Given the description of an element on the screen output the (x, y) to click on. 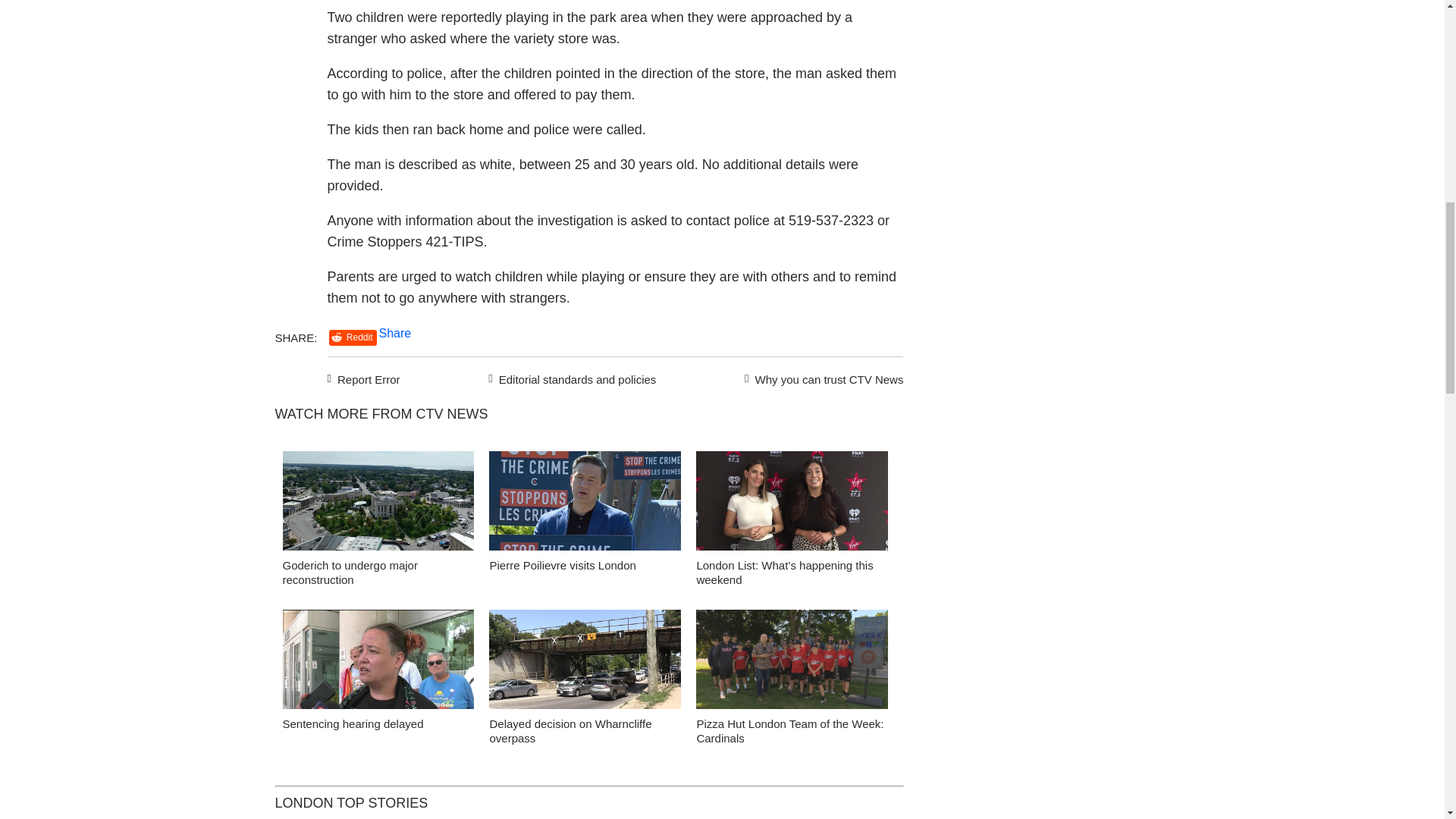
Goderich to undergo major reconstruction (378, 504)
Report Error (363, 377)
Reta KP London List July 25 (791, 504)
Delayed decision on Wharncliffe overpass (569, 730)
Pizza Hut London Team of the Week: Cardinals (789, 730)
Why you can trust CTV News (820, 377)
false (791, 659)
Editorial standards and policies (569, 377)
false (791, 500)
Two disruptions at what was supposed to be a sente (378, 663)
false (585, 500)
Delayed decision on Wharncliffe overpass (585, 663)
Reddit (353, 337)
PIZZA HUT TEAM JULY 25 (791, 663)
false (378, 659)
